Given the description of an element on the screen output the (x, y) to click on. 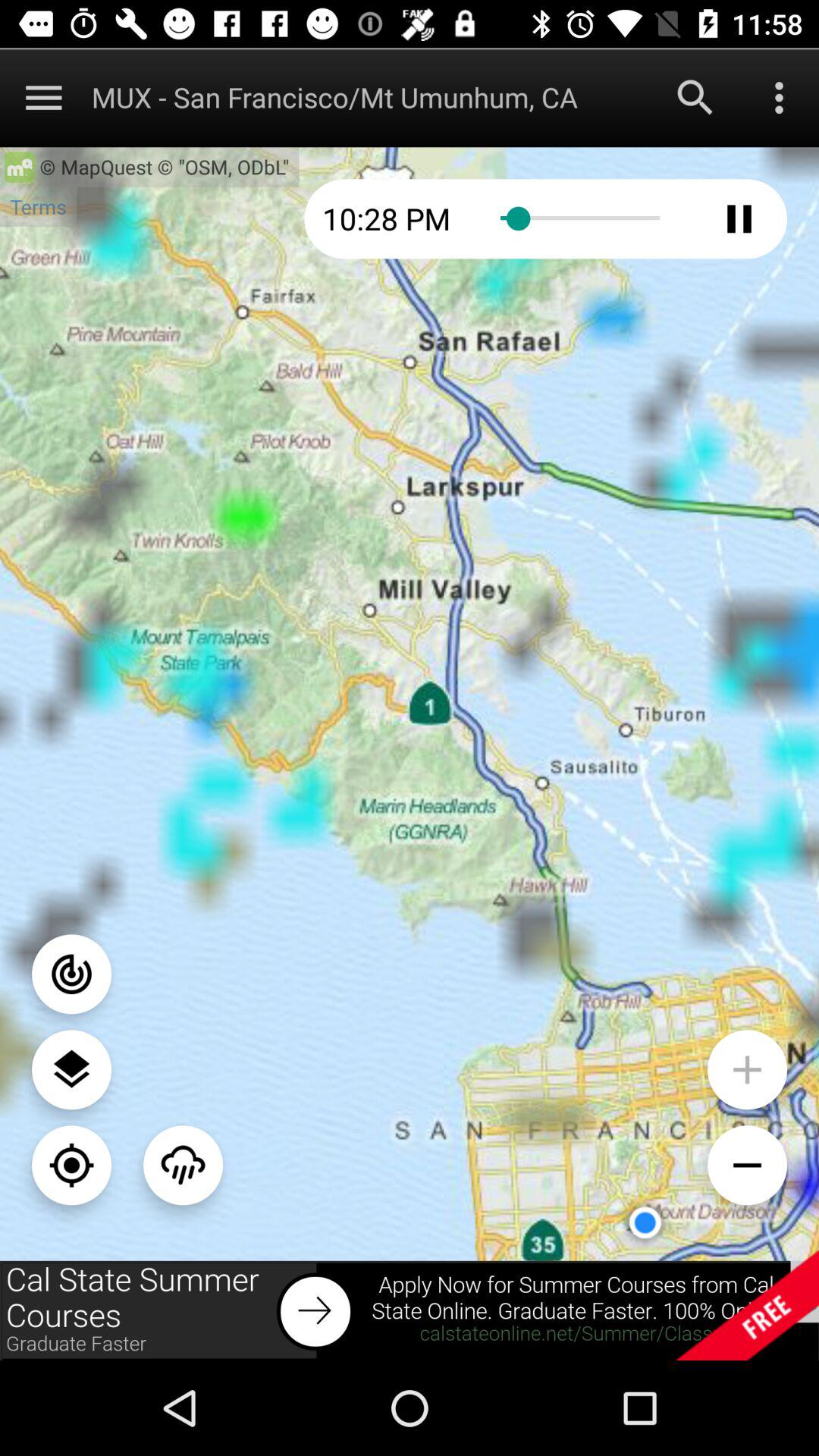
check weather (182, 1165)
